Given the description of an element on the screen output the (x, y) to click on. 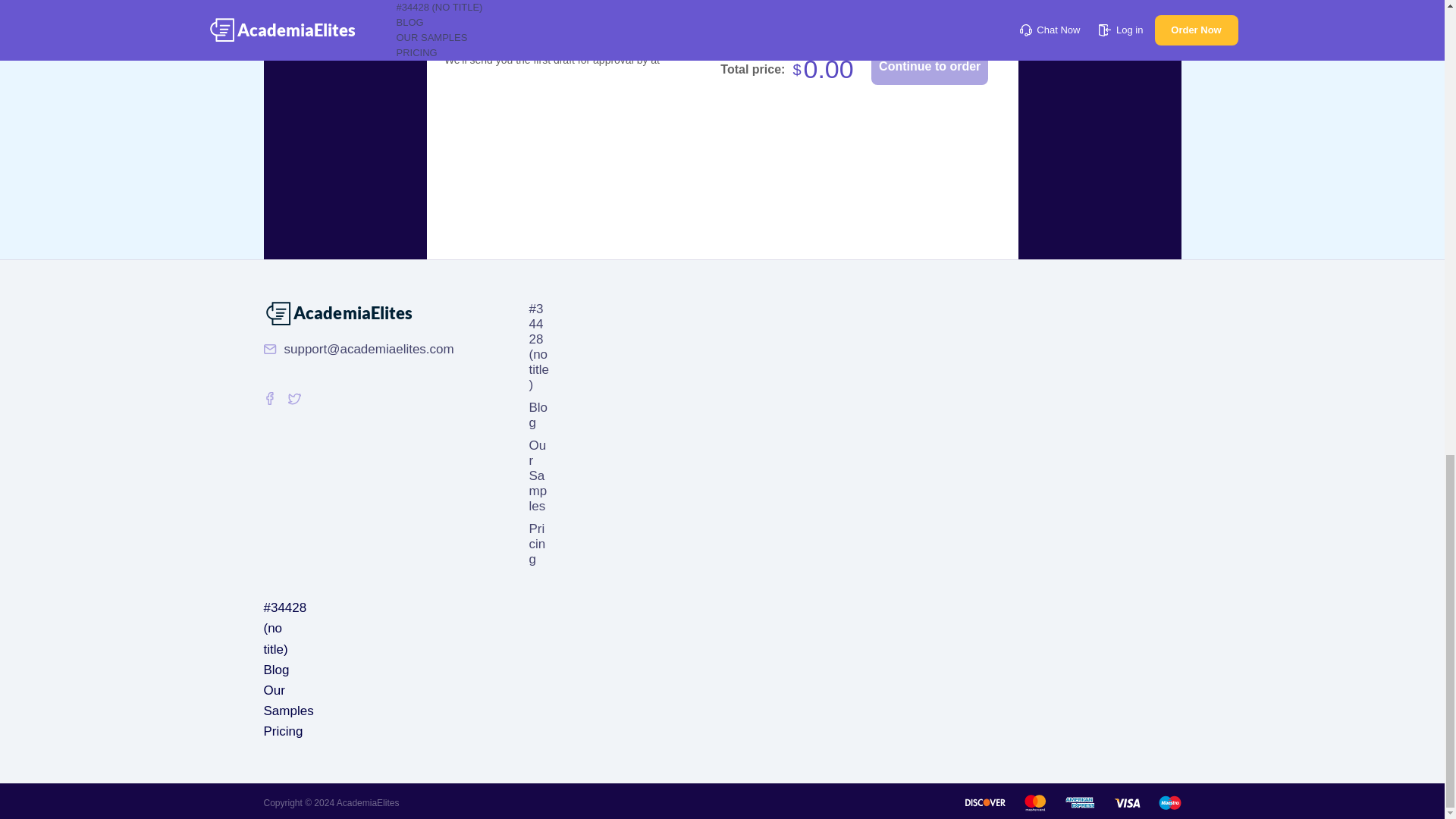
Continue to Order (929, 66)
Continue to order (929, 66)
Blog (276, 670)
Pricing (282, 731)
Our Samples (288, 700)
